Given the description of an element on the screen output the (x, y) to click on. 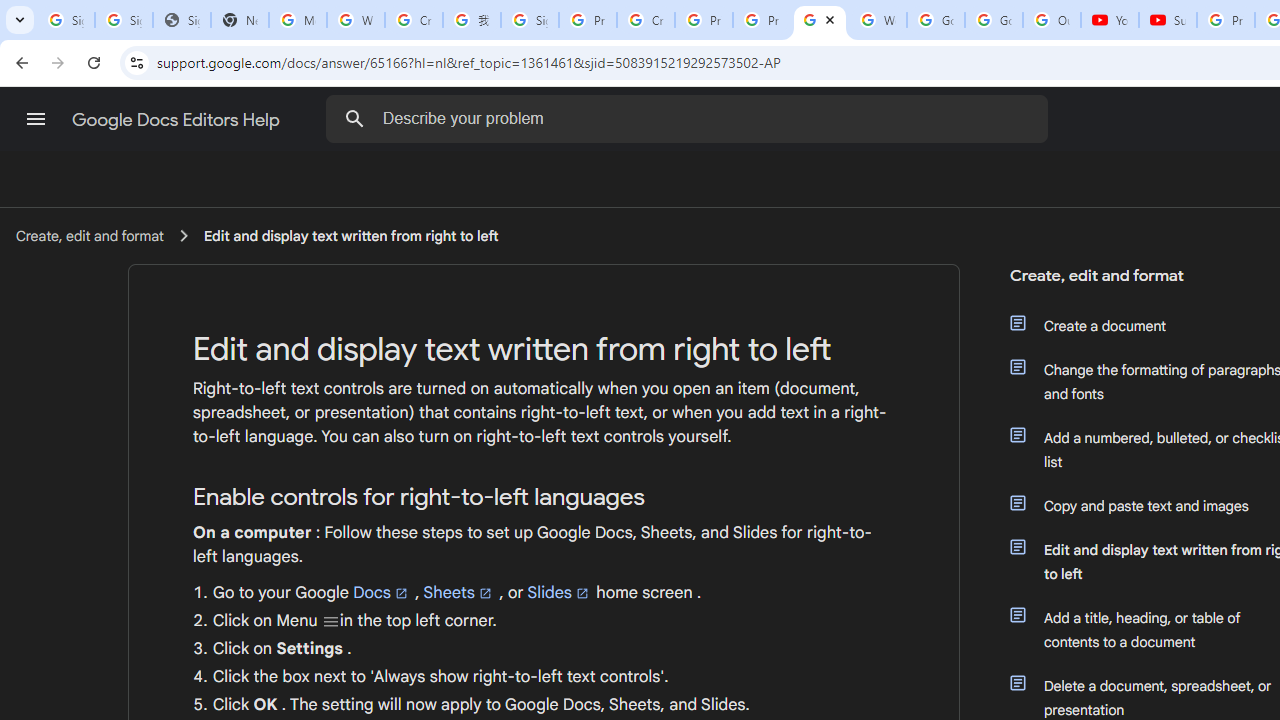
New Tab (239, 20)
Subscriptions - YouTube (1167, 20)
YouTube (1110, 20)
Create, edit and format (89, 235)
Describe your problem (689, 118)
Edit and display text written from right to left (351, 235)
